Given the description of an element on the screen output the (x, y) to click on. 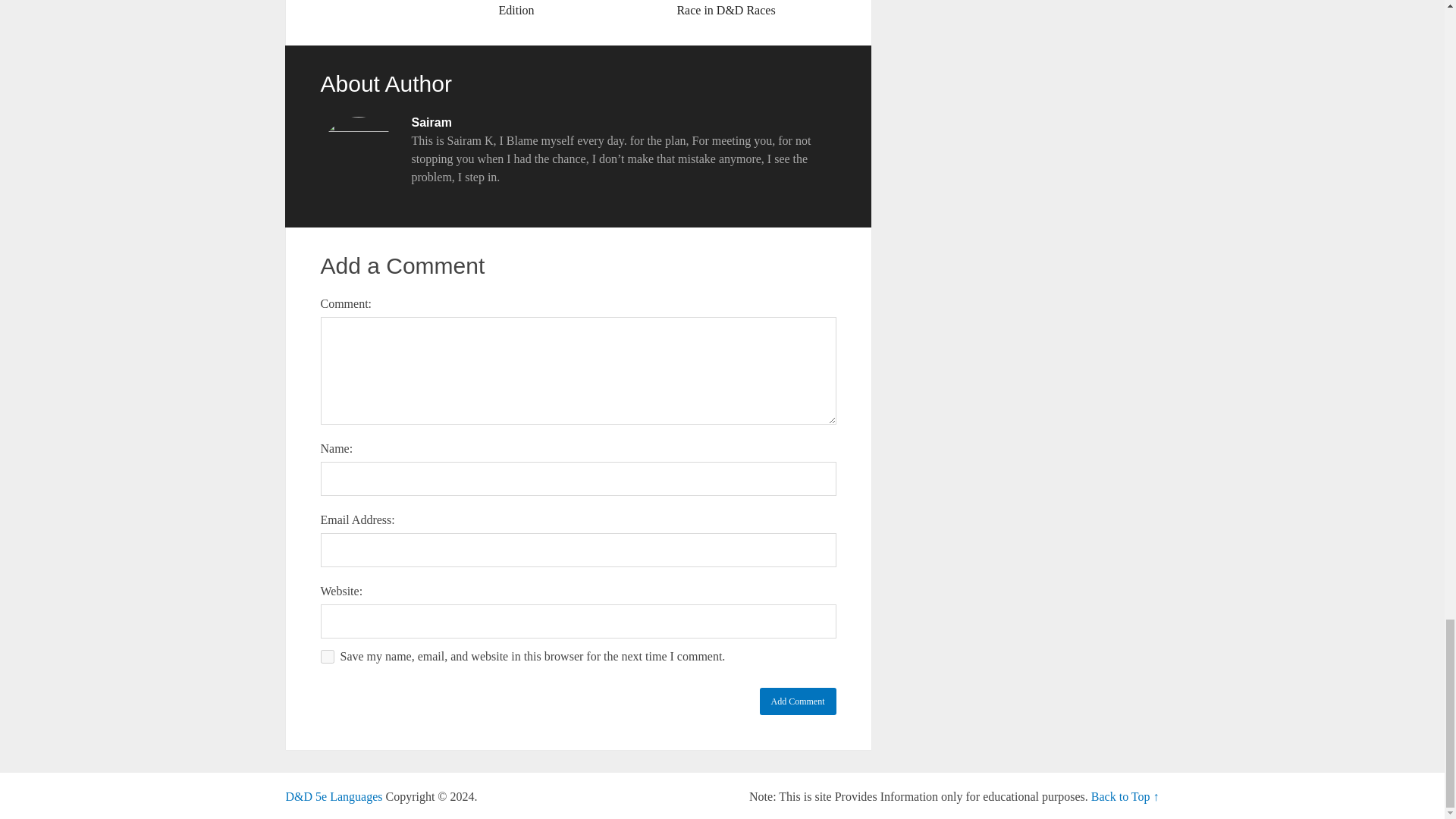
yes (326, 656)
5th Edition (333, 796)
Add Comment (797, 700)
